Given the description of an element on the screen output the (x, y) to click on. 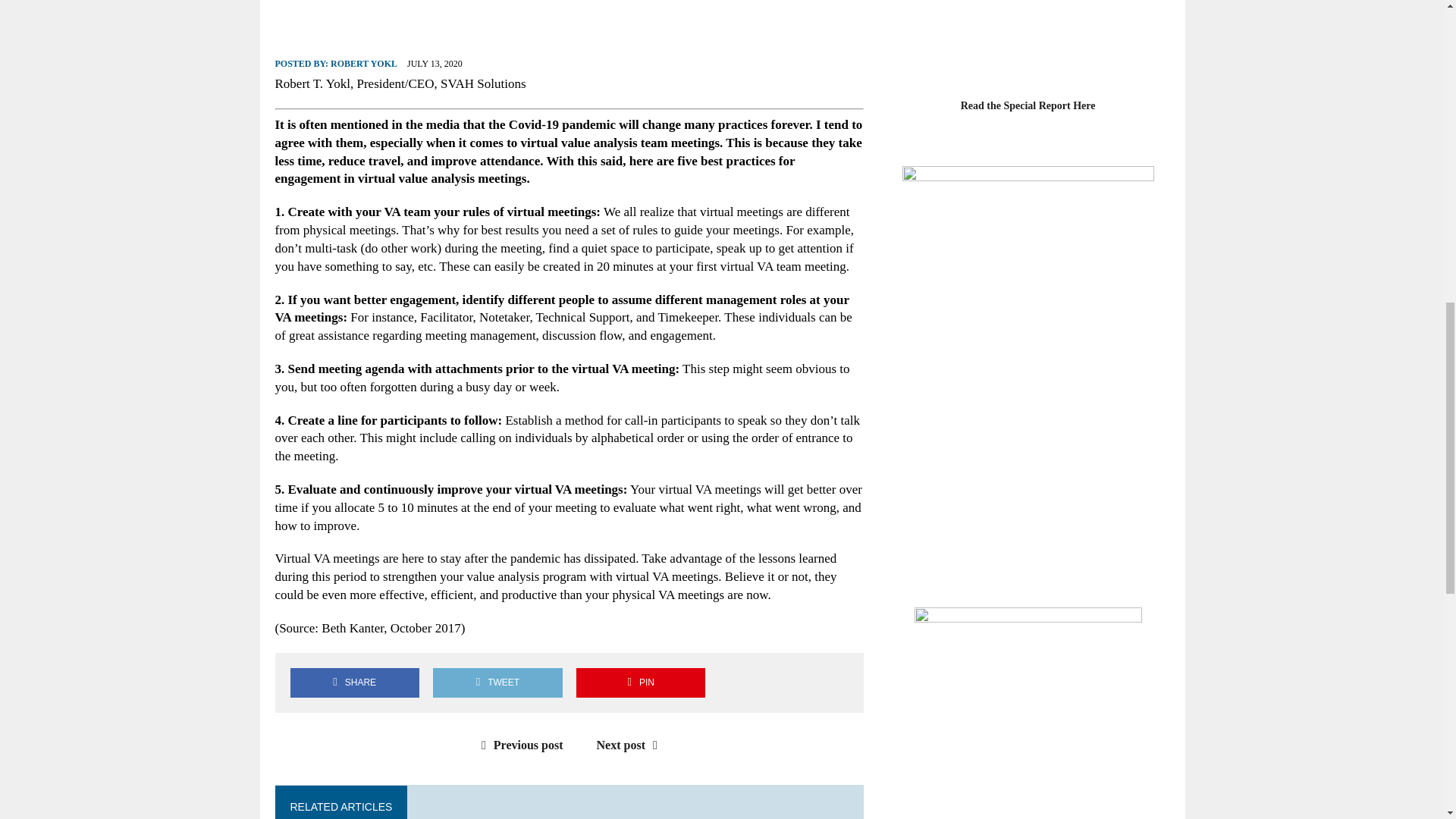
ROBERT YOKL (363, 62)
Pin This Post (640, 682)
Previous post (518, 744)
SHARE (354, 682)
PIN (640, 682)
TWEET (497, 682)
Tweet This Post (497, 682)
Share on Facebook (354, 682)
Next post (630, 744)
